Given the description of an element on the screen output the (x, y) to click on. 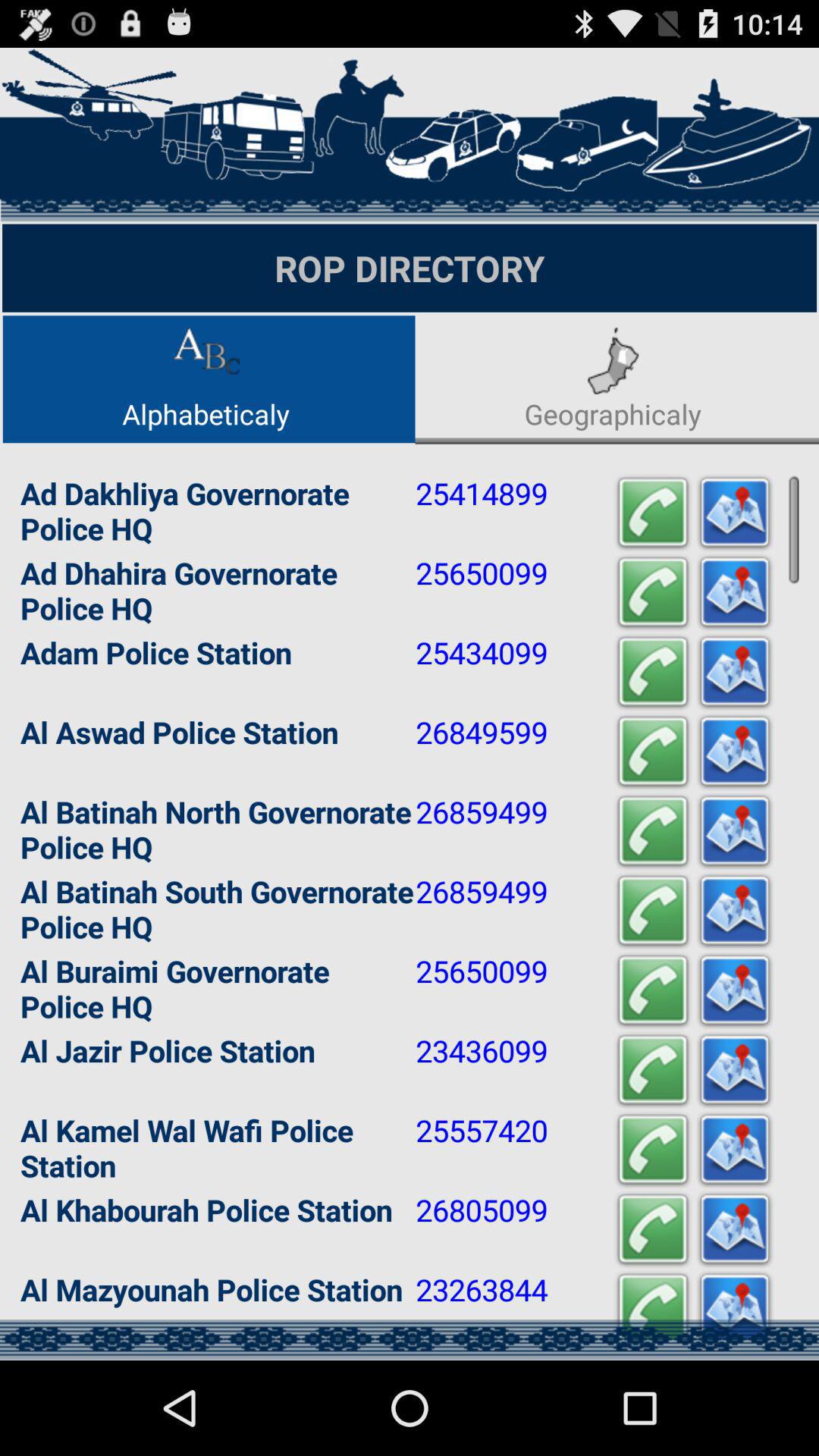
tap the icon above 25650099 icon (652, 910)
